Given the description of an element on the screen output the (x, y) to click on. 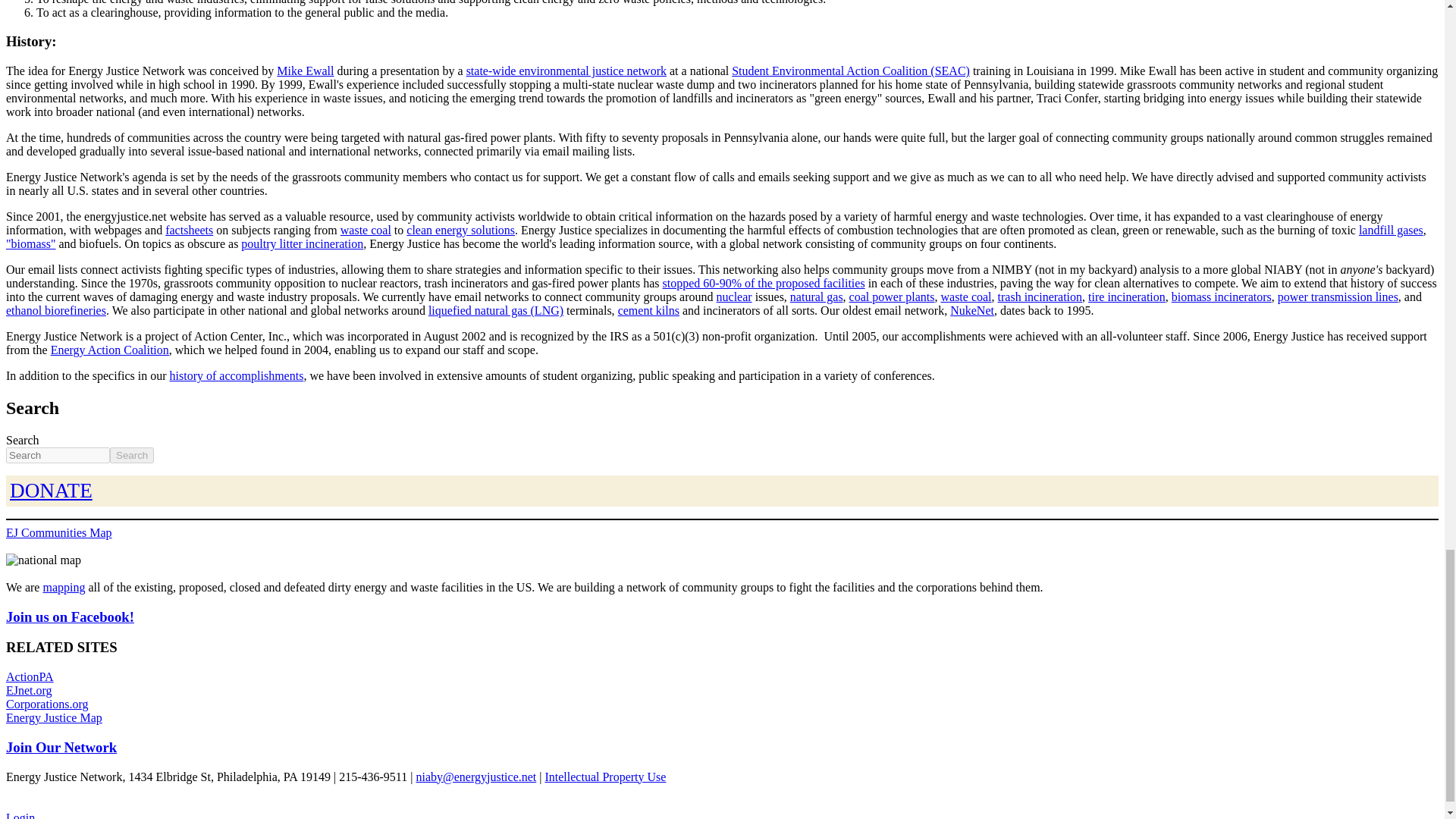
Enter the terms you wish to search for. (57, 455)
